Given the description of an element on the screen output the (x, y) to click on. 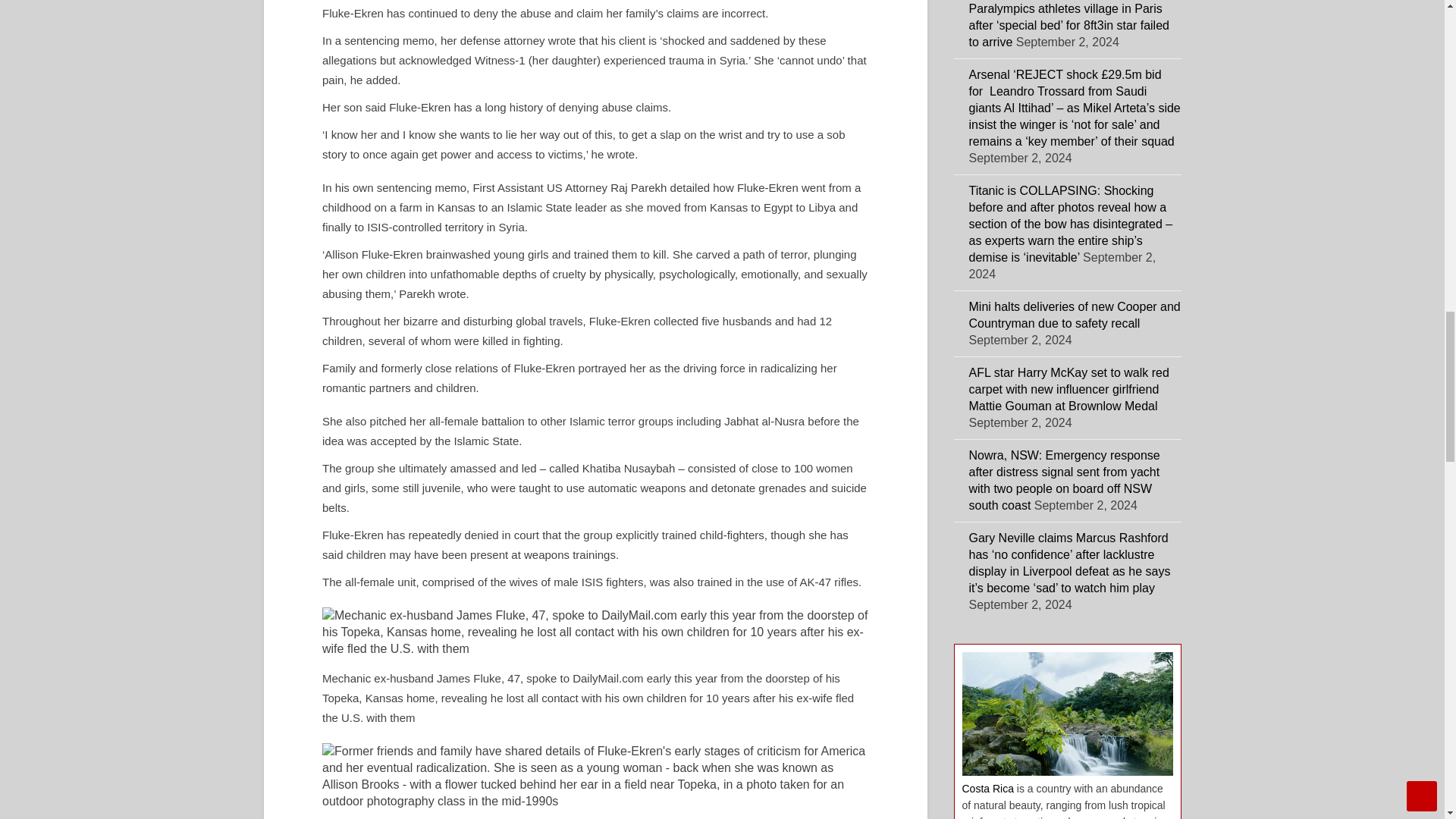
Costa Rica (986, 788)
